Given the description of an element on the screen output the (x, y) to click on. 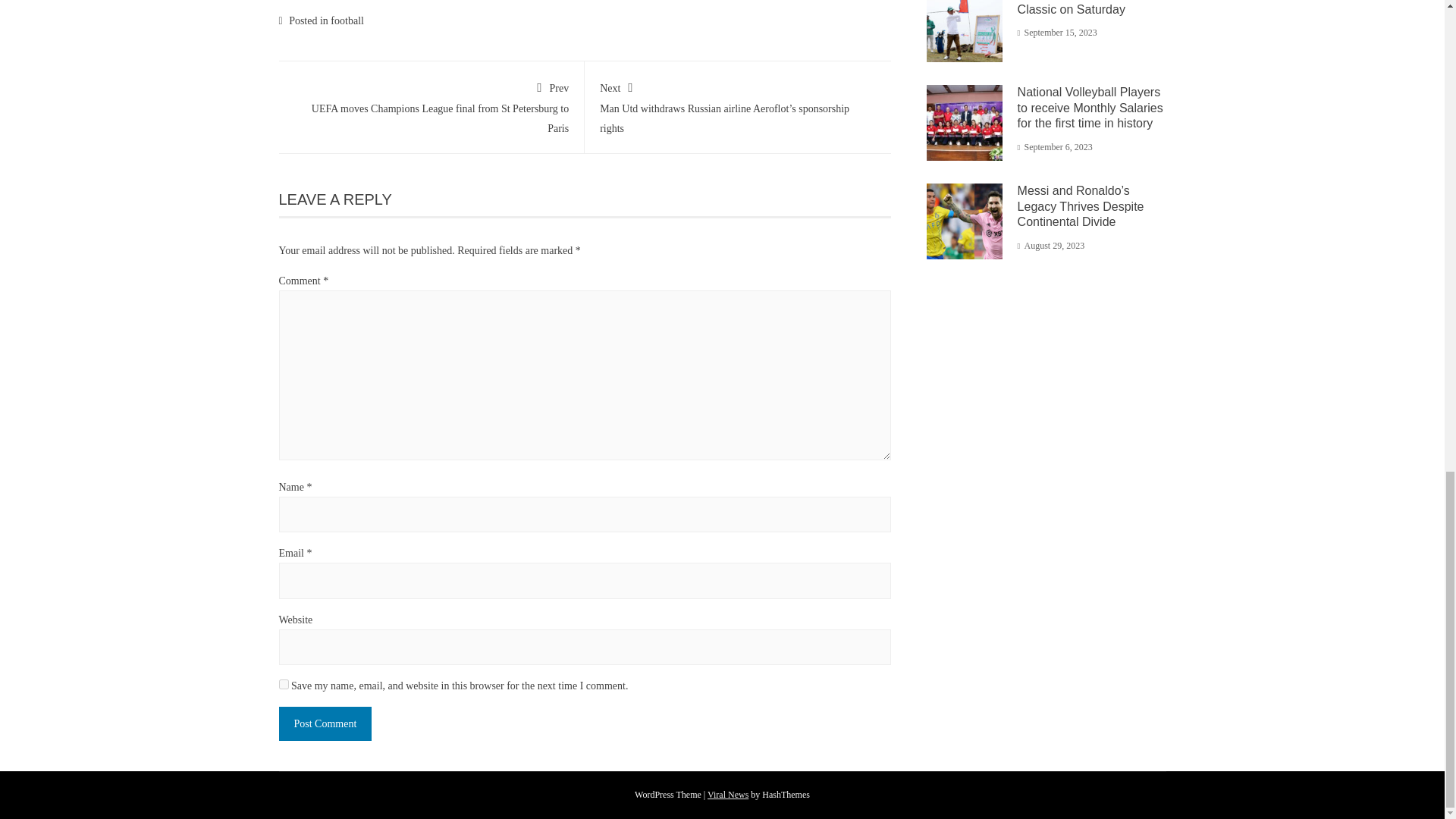
yes (283, 684)
Post Comment (325, 723)
Download Viral News (727, 794)
